Given the description of an element on the screen output the (x, y) to click on. 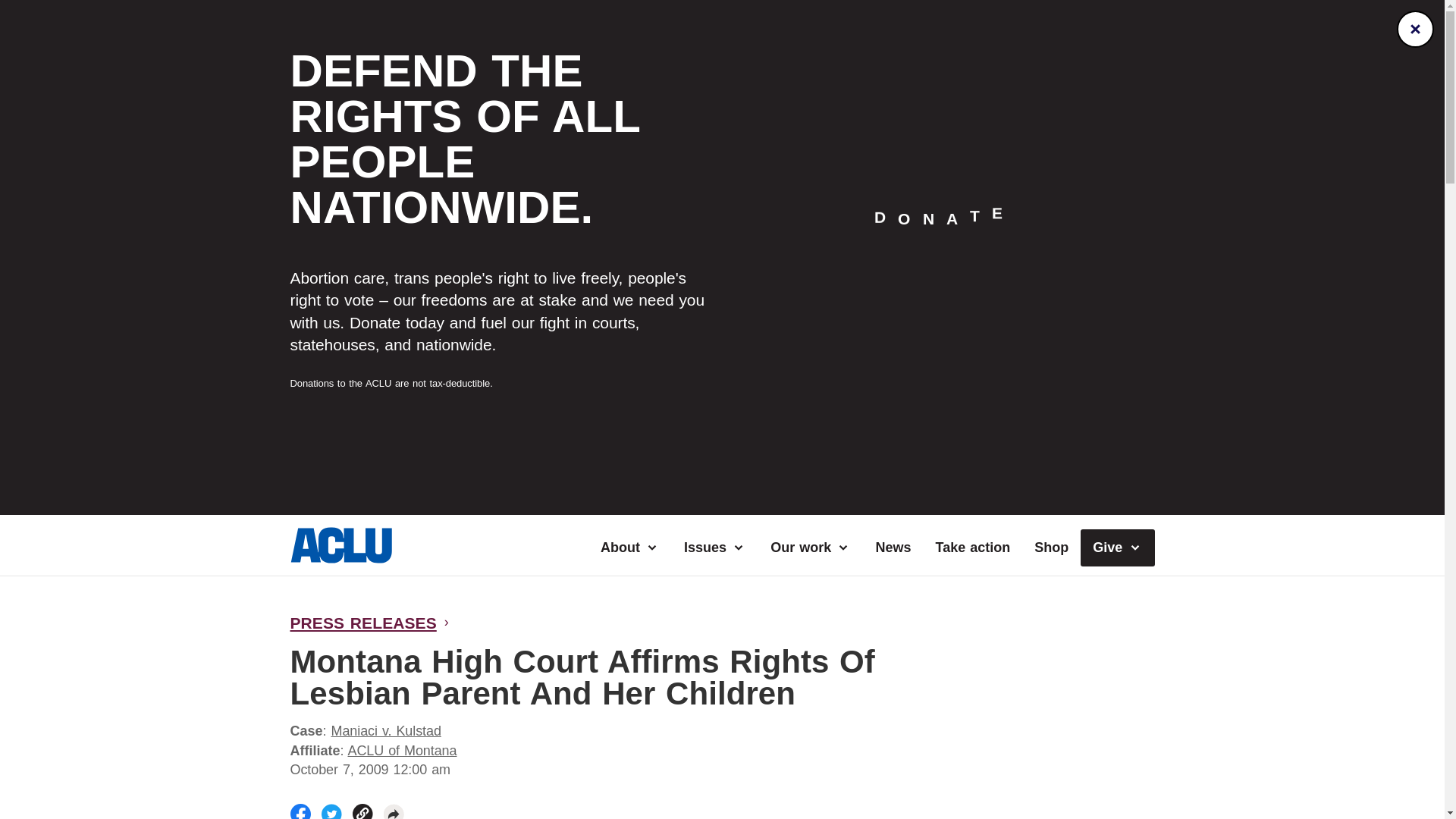
Our work (810, 547)
Tweet (331, 811)
ACLU.org (340, 558)
News (893, 547)
Issues (714, 547)
About (629, 547)
Share on Facebook (299, 811)
Copy (362, 811)
